Given the description of an element on the screen output the (x, y) to click on. 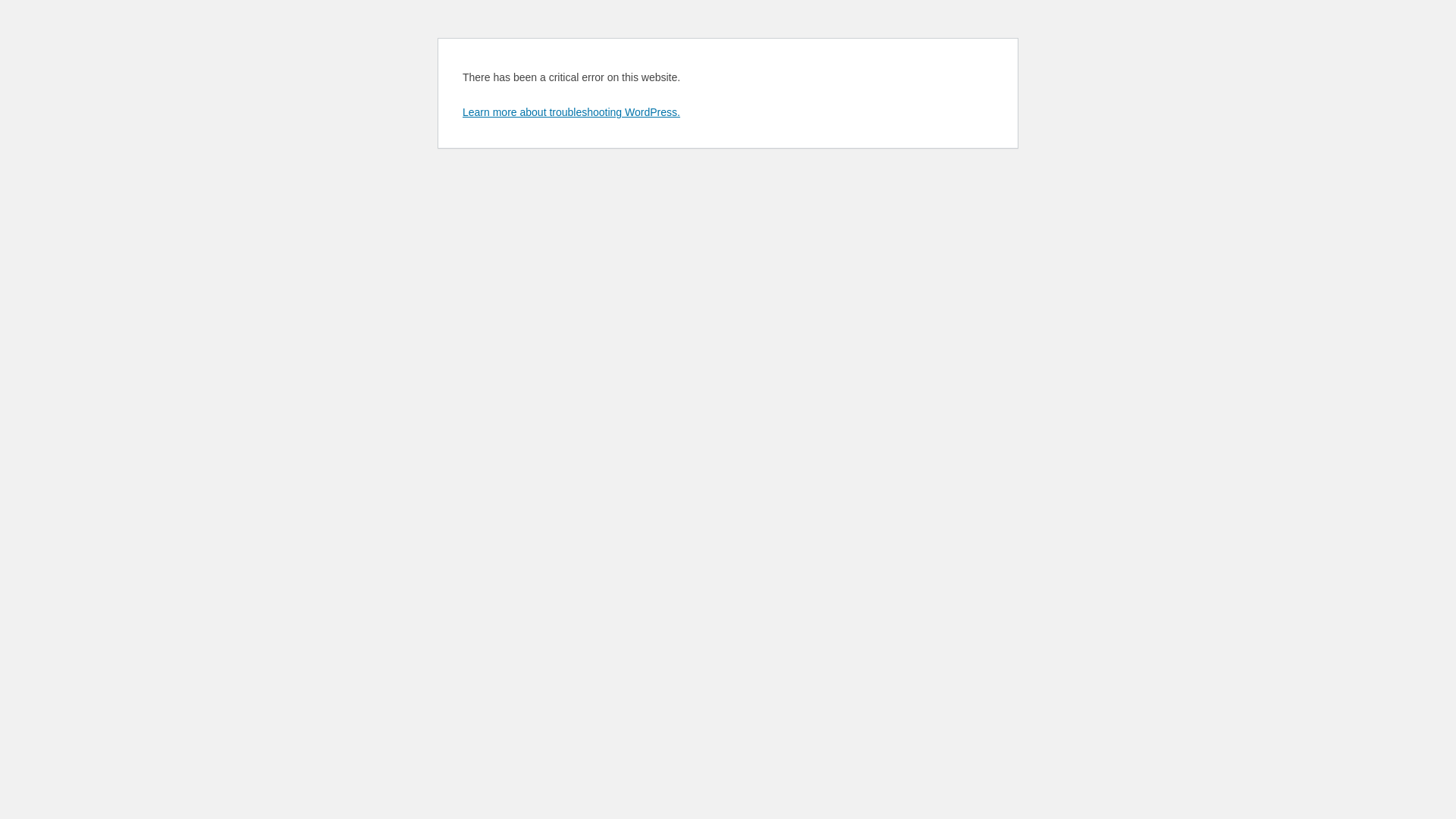
Learn more about troubleshooting WordPress. Element type: text (571, 112)
